Given the description of an element on the screen output the (x, y) to click on. 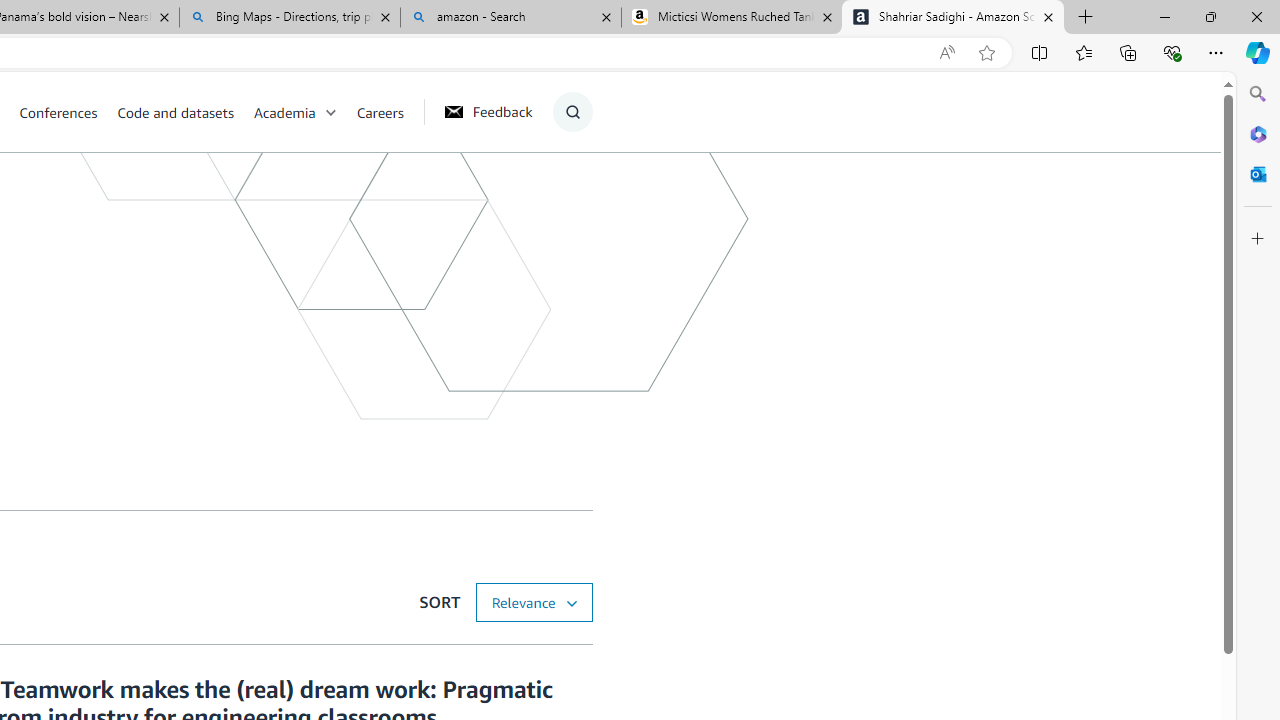
SORT (533, 602)
amazon - Search (510, 17)
Customize (1258, 239)
Academia (284, 111)
